Given the description of an element on the screen output the (x, y) to click on. 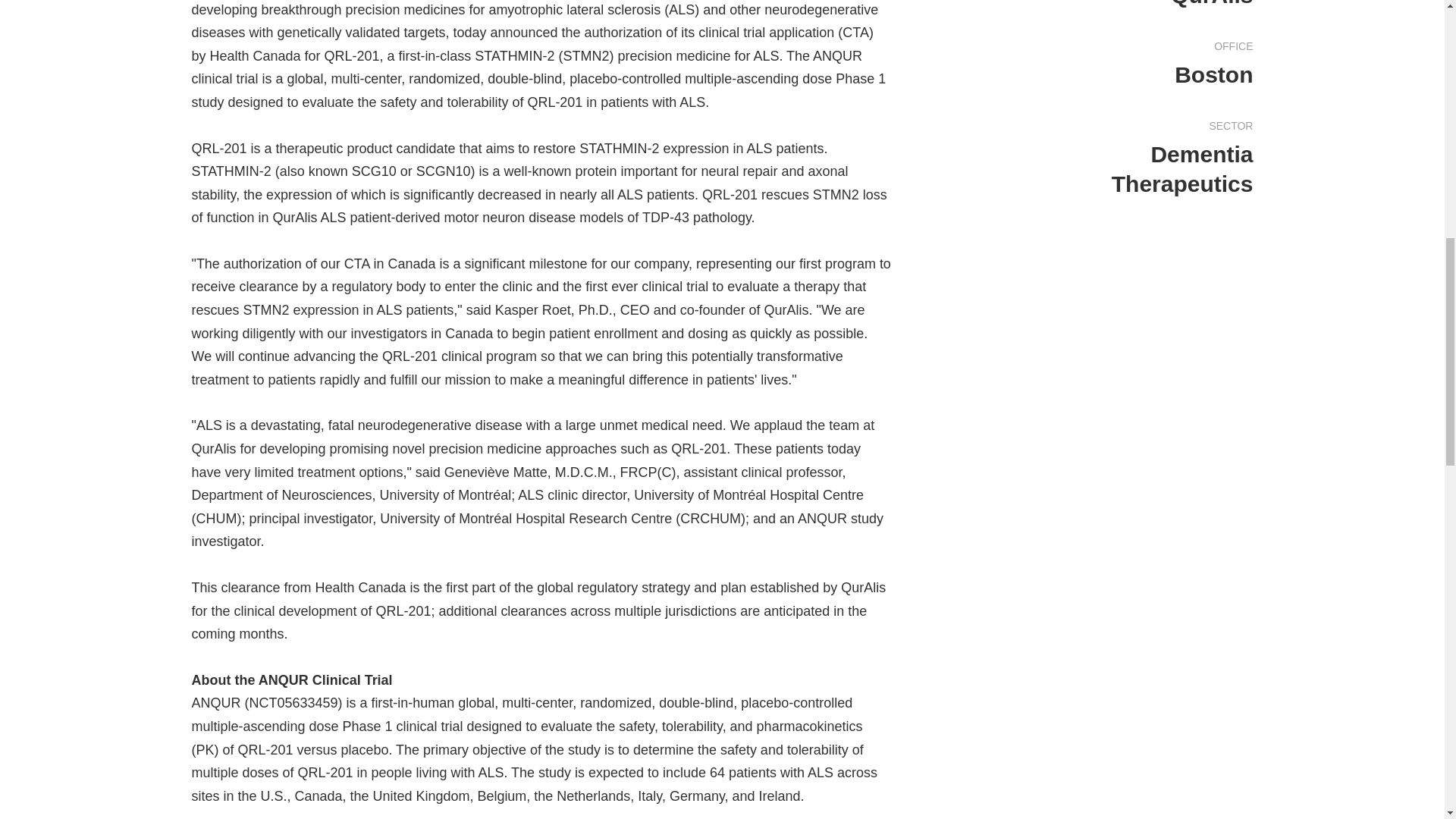
Therapeutics (1182, 183)
Dementia (1201, 154)
QurAlis (1211, 3)
